Given the description of an element on the screen output the (x, y) to click on. 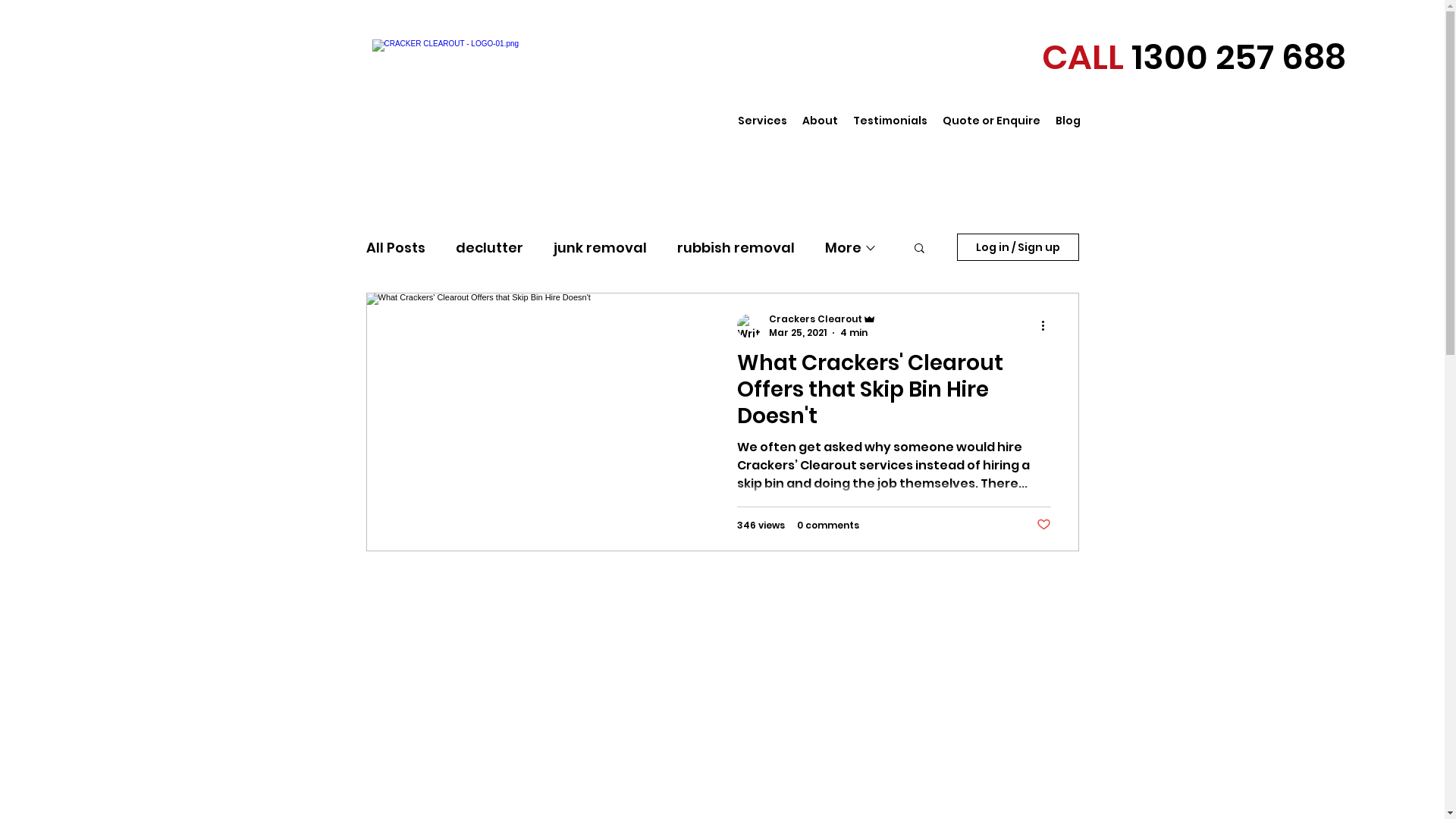
Testimonials Element type: text (889, 120)
What Crackers' Clearout Offers that Skip Bin Hire Doesn't Element type: text (894, 393)
declutter Element type: text (488, 246)
About Element type: text (819, 120)
Log in / Sign up Element type: text (1018, 246)
Blog Element type: text (1068, 120)
junk removal Element type: text (599, 246)
Post not marked as liked Element type: text (1042, 525)
0 comments Element type: text (827, 525)
rubbish removal Element type: text (734, 246)
Services Element type: text (761, 120)
Quote or Enquire Element type: text (990, 120)
1300 257 688 Element type: text (1238, 57)
All Posts Element type: text (394, 246)
